Given the description of an element on the screen output the (x, y) to click on. 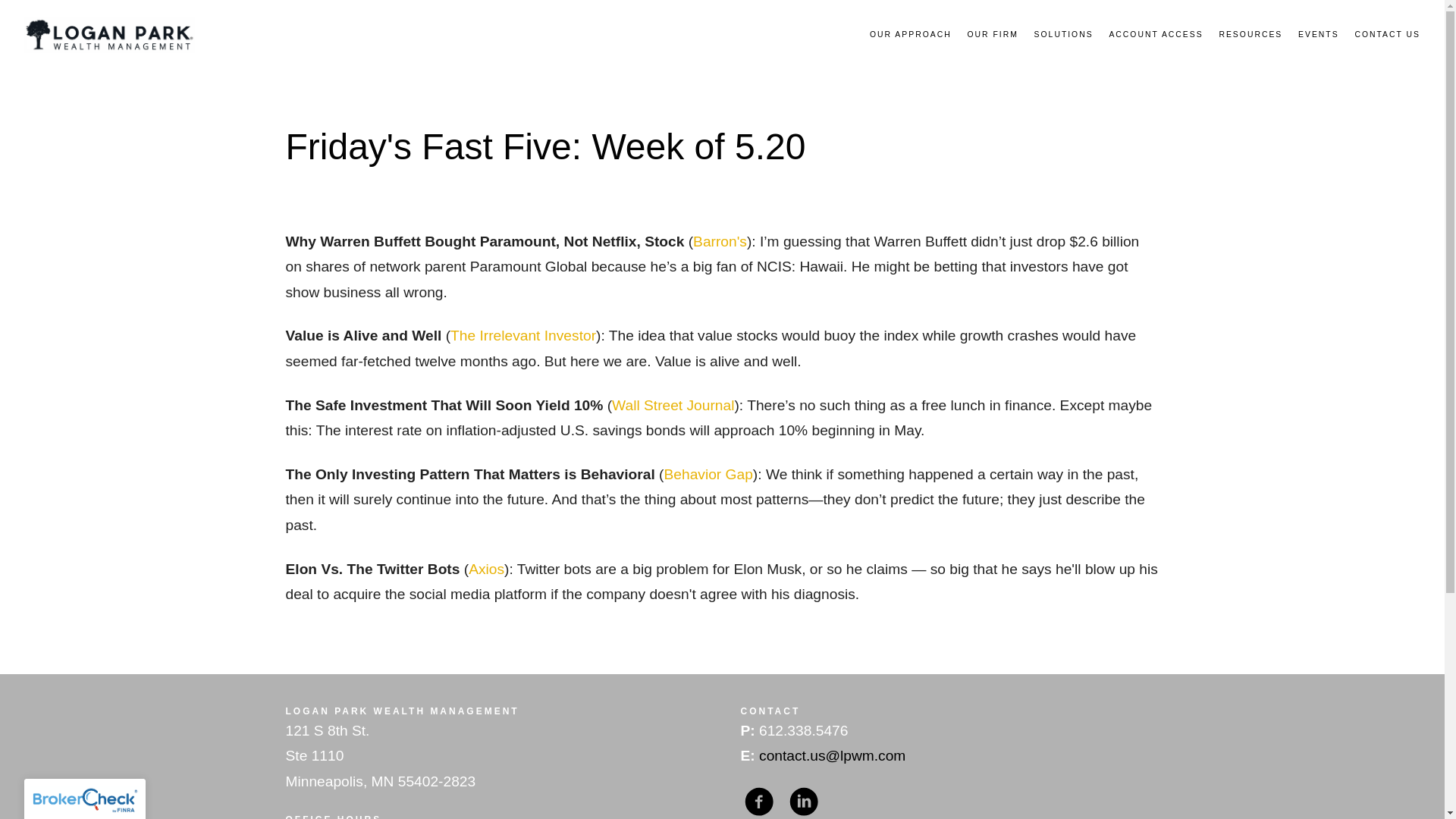
ACCOUNT ACCESS (1155, 34)
EVENTS (1318, 34)
SOLUTIONS (1063, 34)
CONTACT US (1387, 34)
Axios (485, 569)
The Irrelevant Investor (522, 335)
Behavior Gap (707, 474)
OUR FIRM (991, 34)
Wall Street Journal (672, 405)
Barron's (719, 241)
OUR APPROACH (910, 34)
RESOURCES (1250, 34)
